Given the description of an element on the screen output the (x, y) to click on. 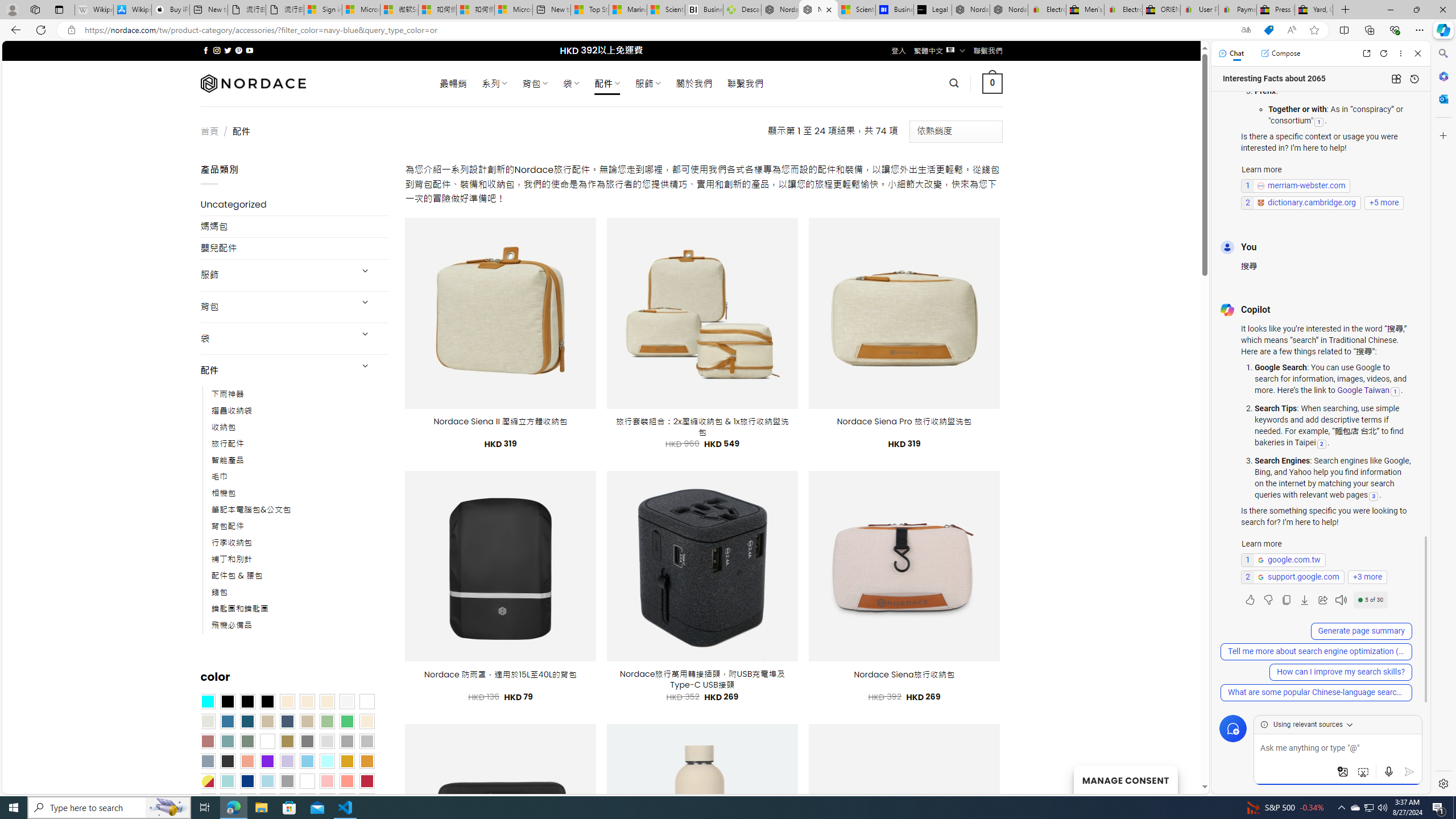
MANAGE CONSENT (1125, 779)
